Given the description of an element on the screen output the (x, y) to click on. 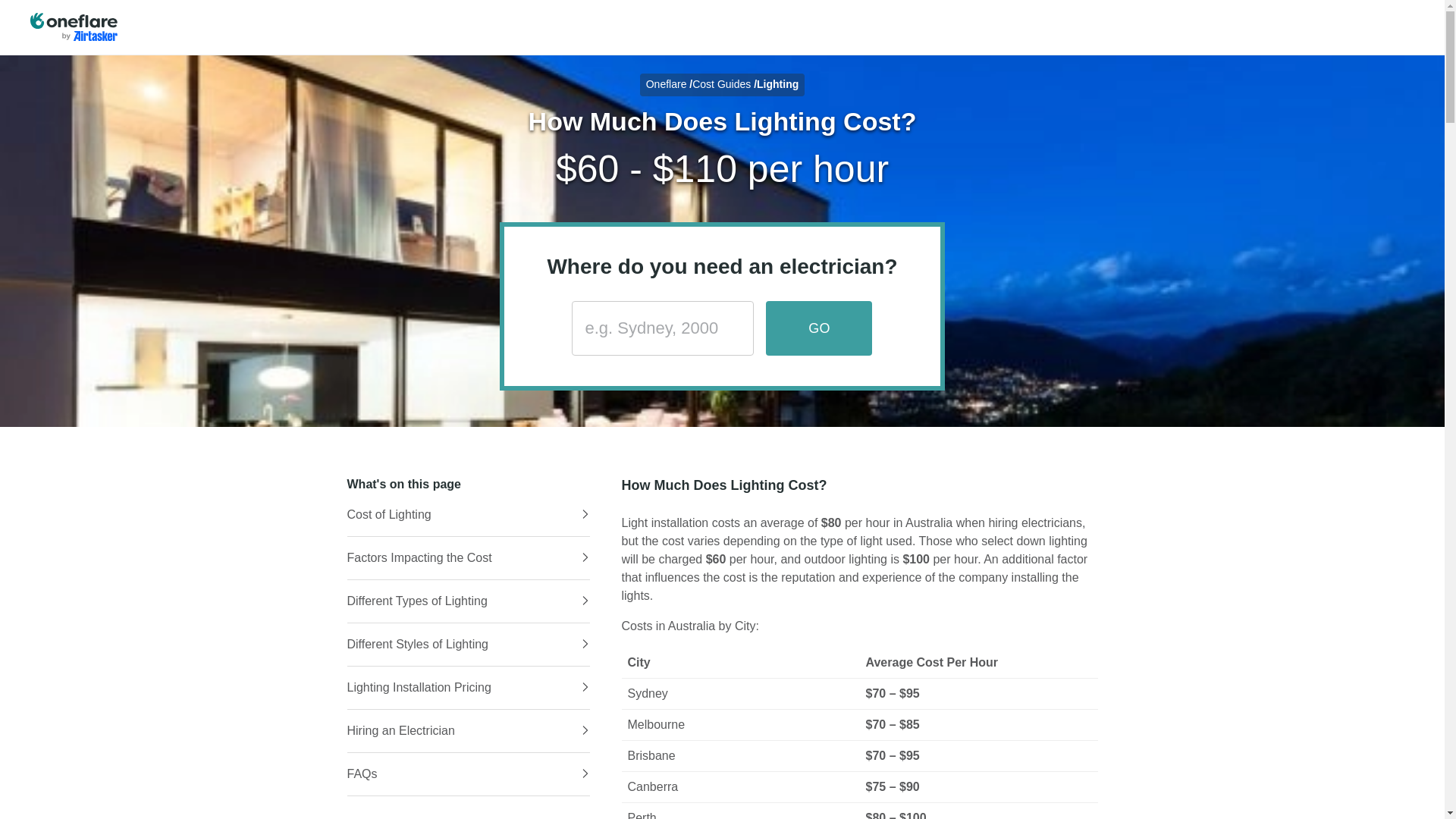
Oneflare Element type: text (666, 84)
Different Styles of Lighting
Right Chevron Element type: text (468, 644)
Factors Impacting the Cost
Right Chevron Element type: text (468, 557)
Hiring an Electrician
Right Chevron Element type: text (468, 730)
Different Types of Lighting
Right Chevron Element type: text (468, 601)
FAQs
Right Chevron Element type: text (468, 774)
Cost Guides Element type: text (721, 84)
Cost of Lighting
Right Chevron Element type: text (468, 514)
Lighting Installation Pricing
Right Chevron Element type: text (468, 687)
GO Element type: text (818, 328)
